Given the description of an element on the screen output the (x, y) to click on. 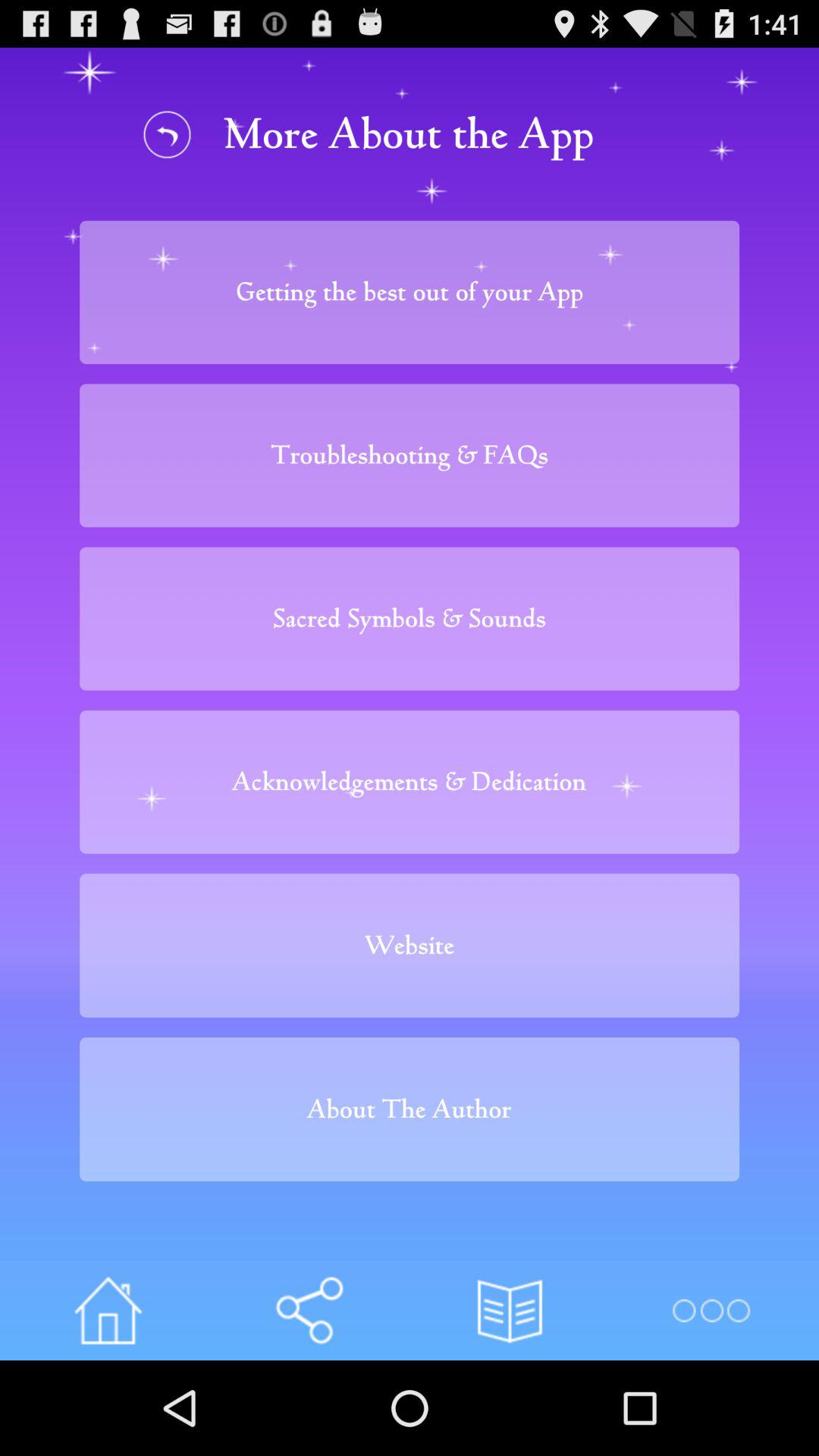
go to home page (107, 1310)
